Given the description of an element on the screen output the (x, y) to click on. 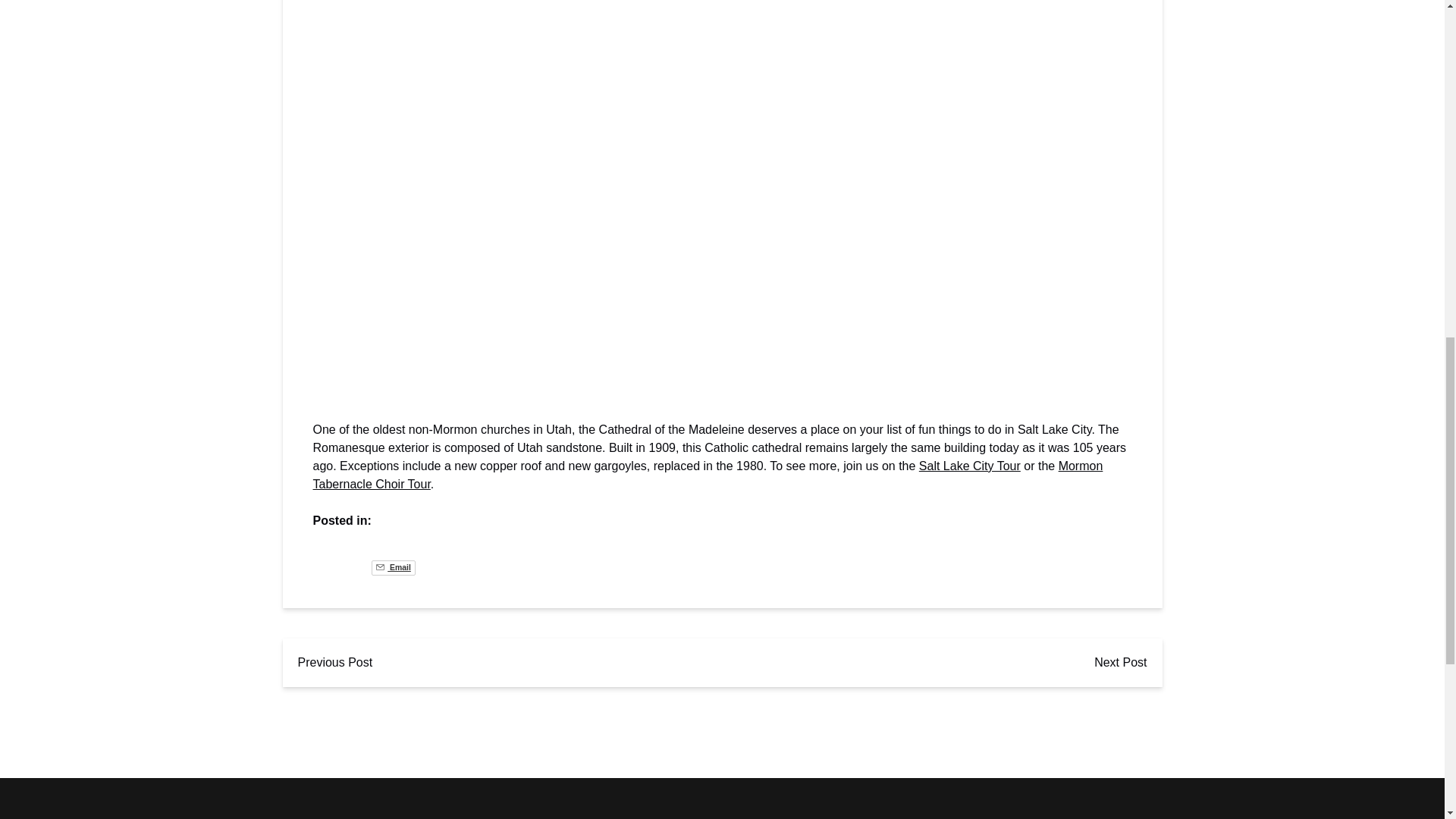
Previous Post (334, 662)
Mormon Tabernacle Choir Tour (707, 474)
Salt Lake City Tour (969, 465)
visit previous post (334, 662)
FareHarbor (1342, 64)
Email this page to a friend. (392, 566)
Email (392, 566)
Next Post (1119, 662)
